Given the description of an element on the screen output the (x, y) to click on. 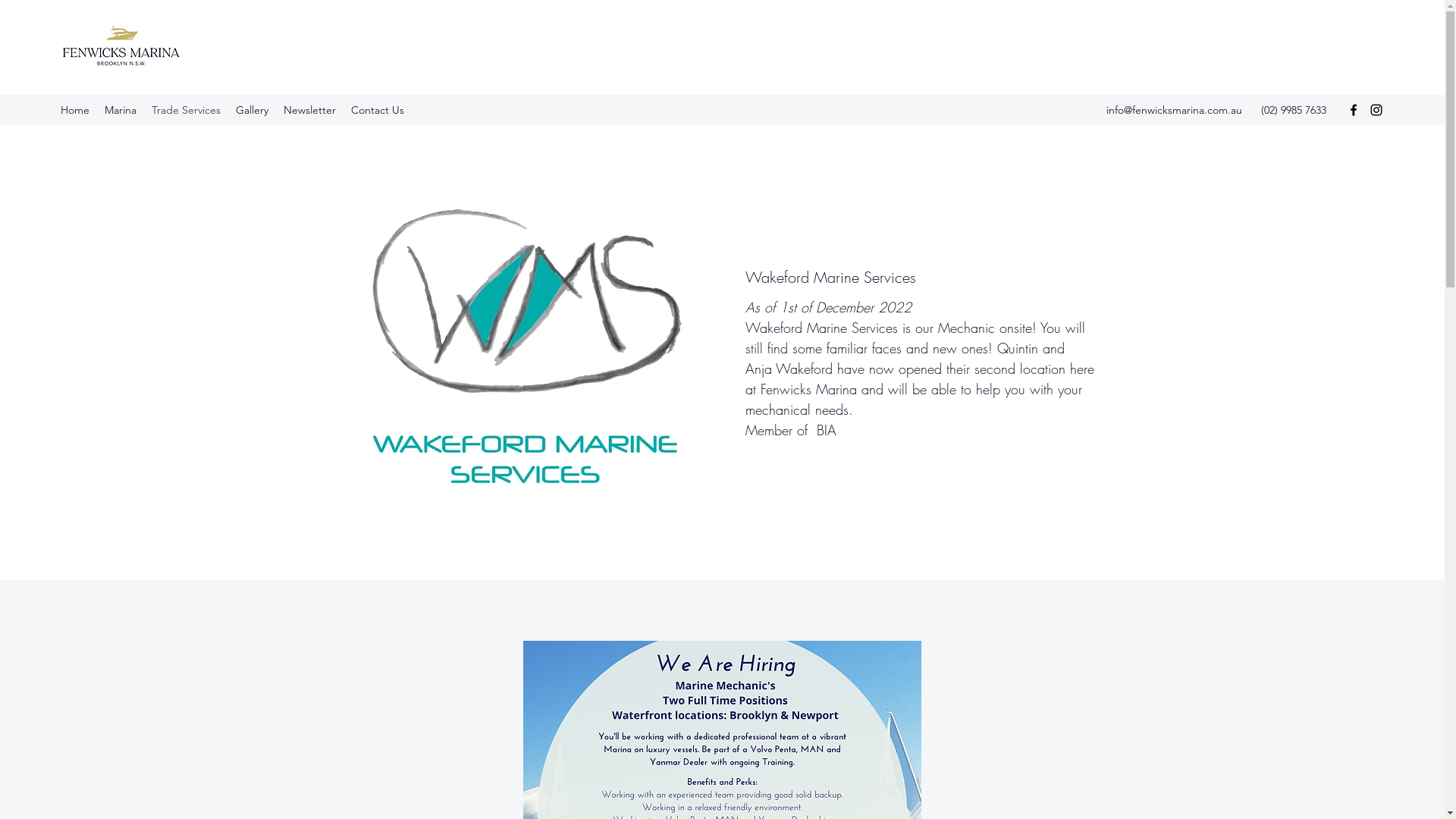
info@fenwicksmarina.com.au Element type: text (1174, 109)
Marina Element type: text (120, 109)
Gallery Element type: text (252, 109)
Contact Us Element type: text (377, 109)
Newsletter Element type: text (309, 109)
Home Element type: text (75, 109)
Trade Services Element type: text (186, 109)
